Given the description of an element on the screen output the (x, y) to click on. 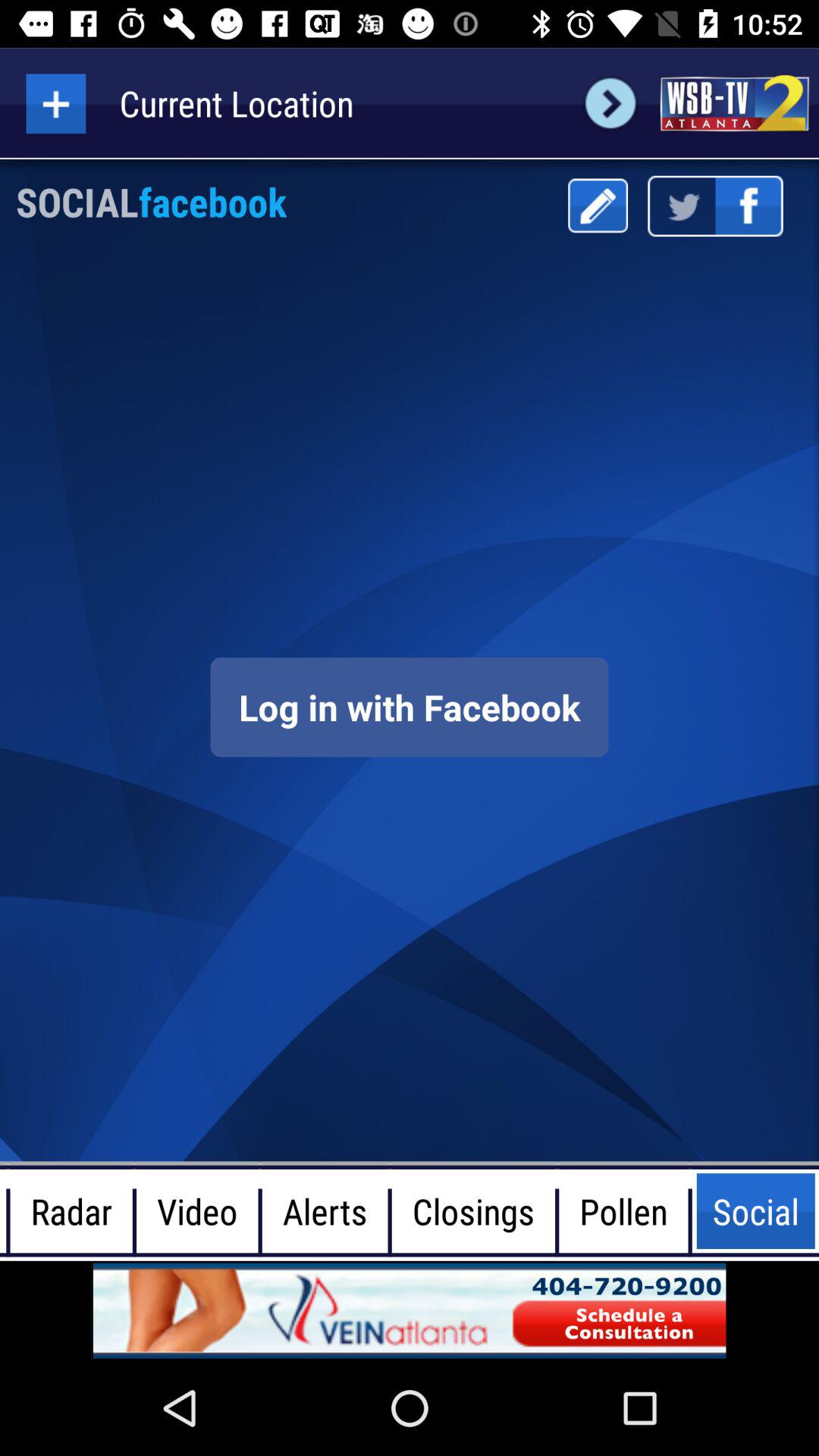
add more (55, 103)
